Given the description of an element on the screen output the (x, y) to click on. 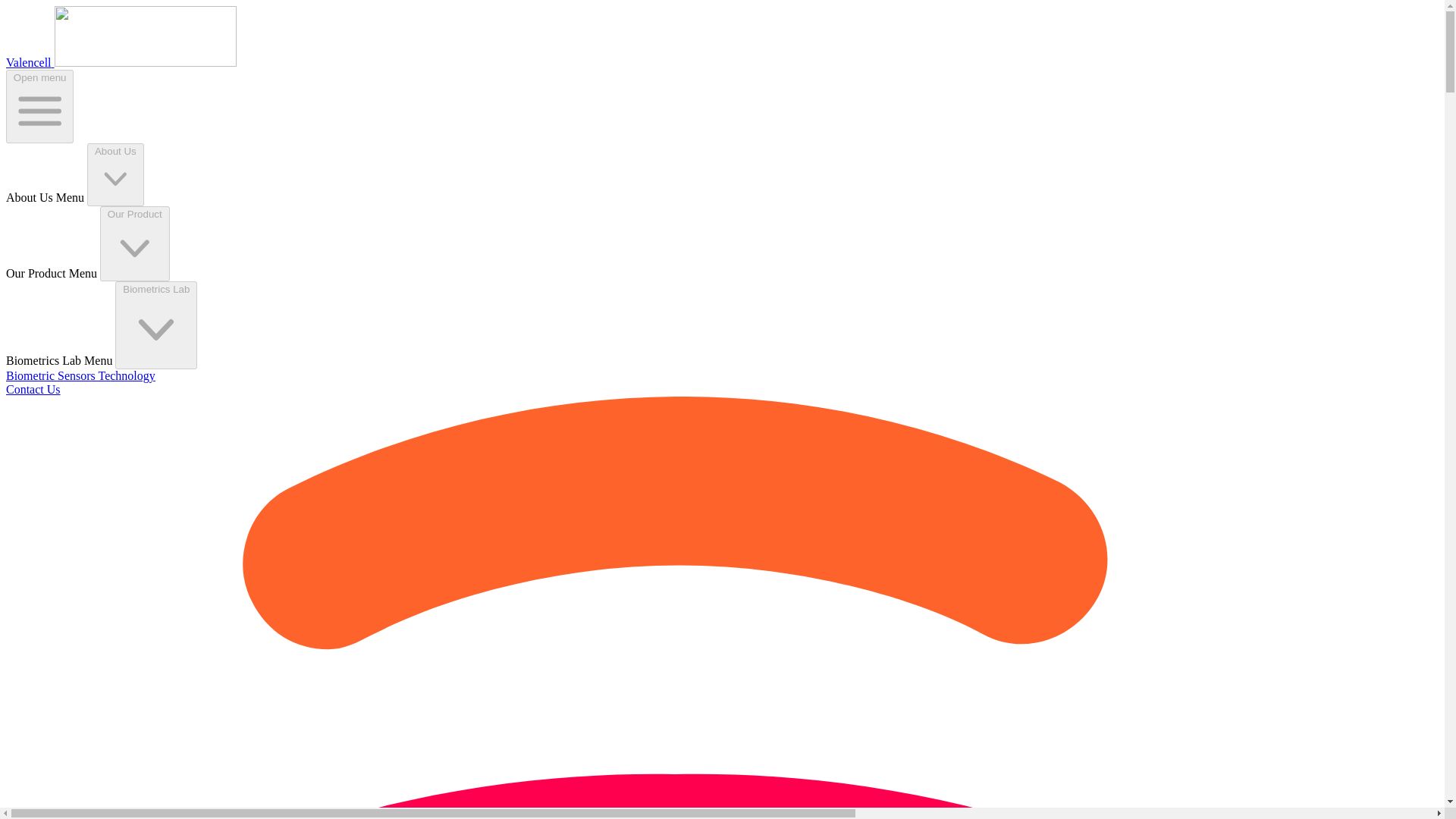
Biometrics Lab (155, 325)
Biometric Sensors Technology (80, 375)
Open menu (39, 106)
Contact Us (33, 389)
Valencell (120, 62)
Our Product (135, 243)
About Us (115, 174)
